Given the description of an element on the screen output the (x, y) to click on. 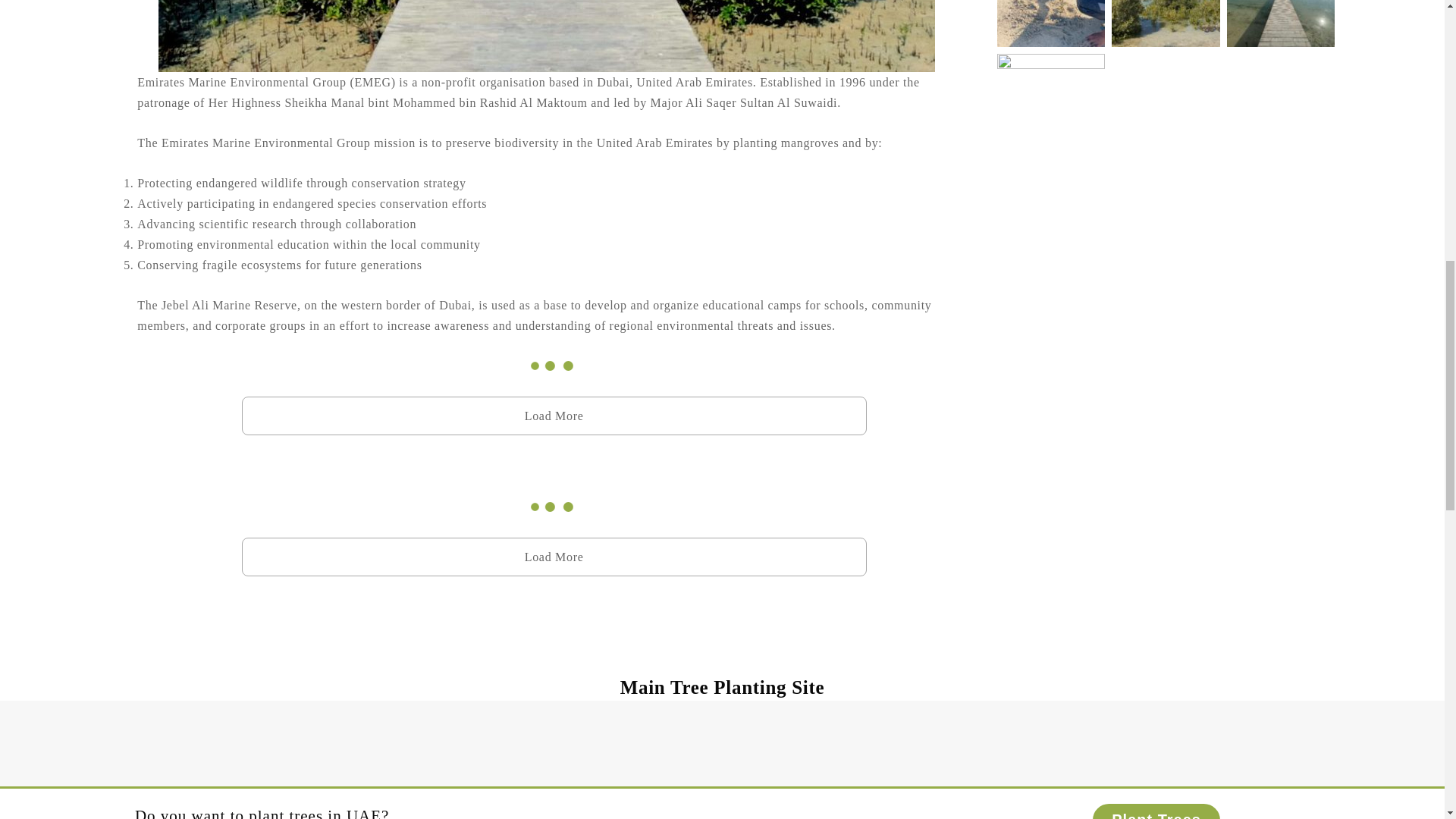
EMEG (546, 36)
